Given the description of an element on the screen output the (x, y) to click on. 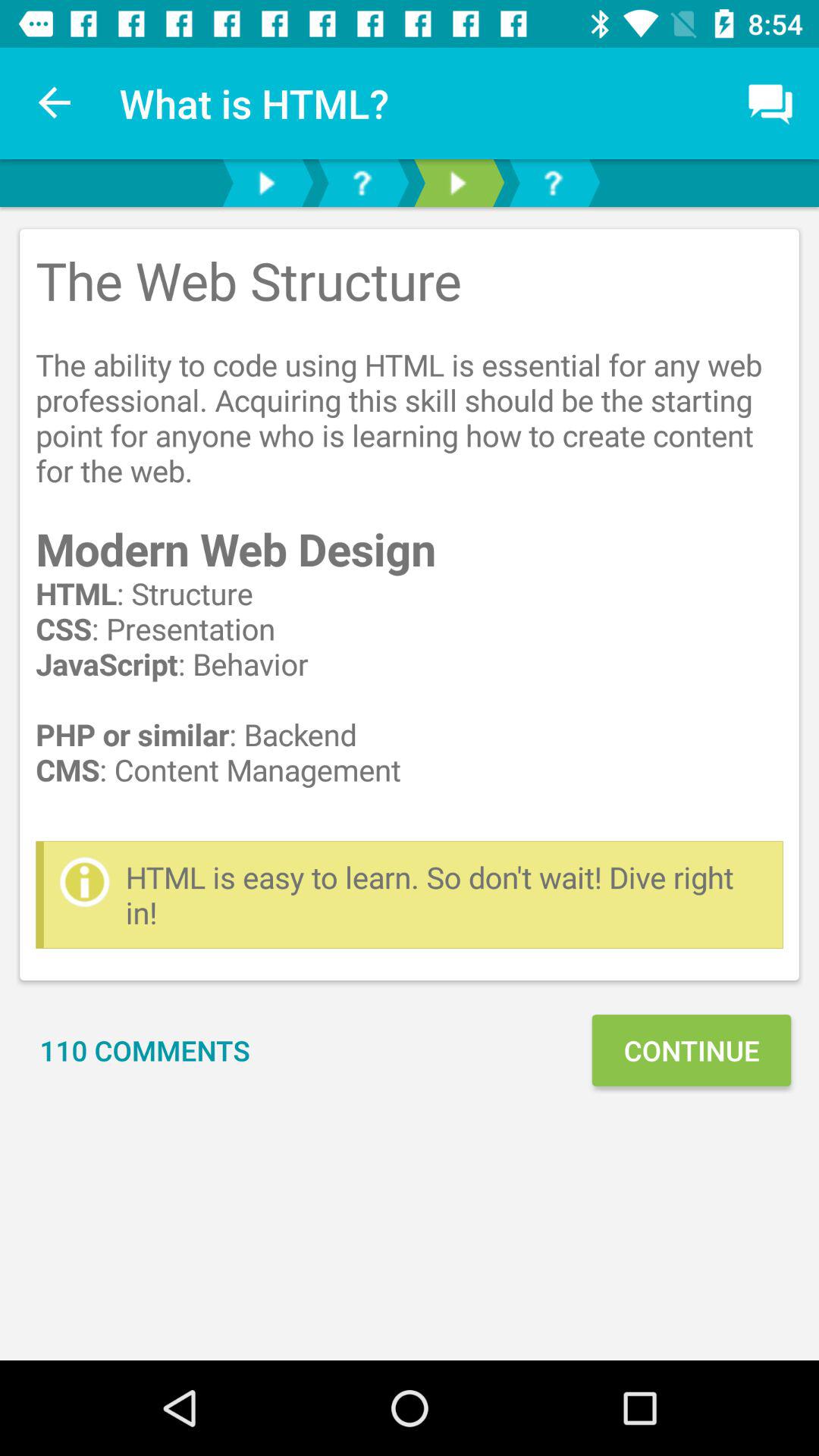
press item above the the web structure item (771, 103)
